Given the description of an element on the screen output the (x, y) to click on. 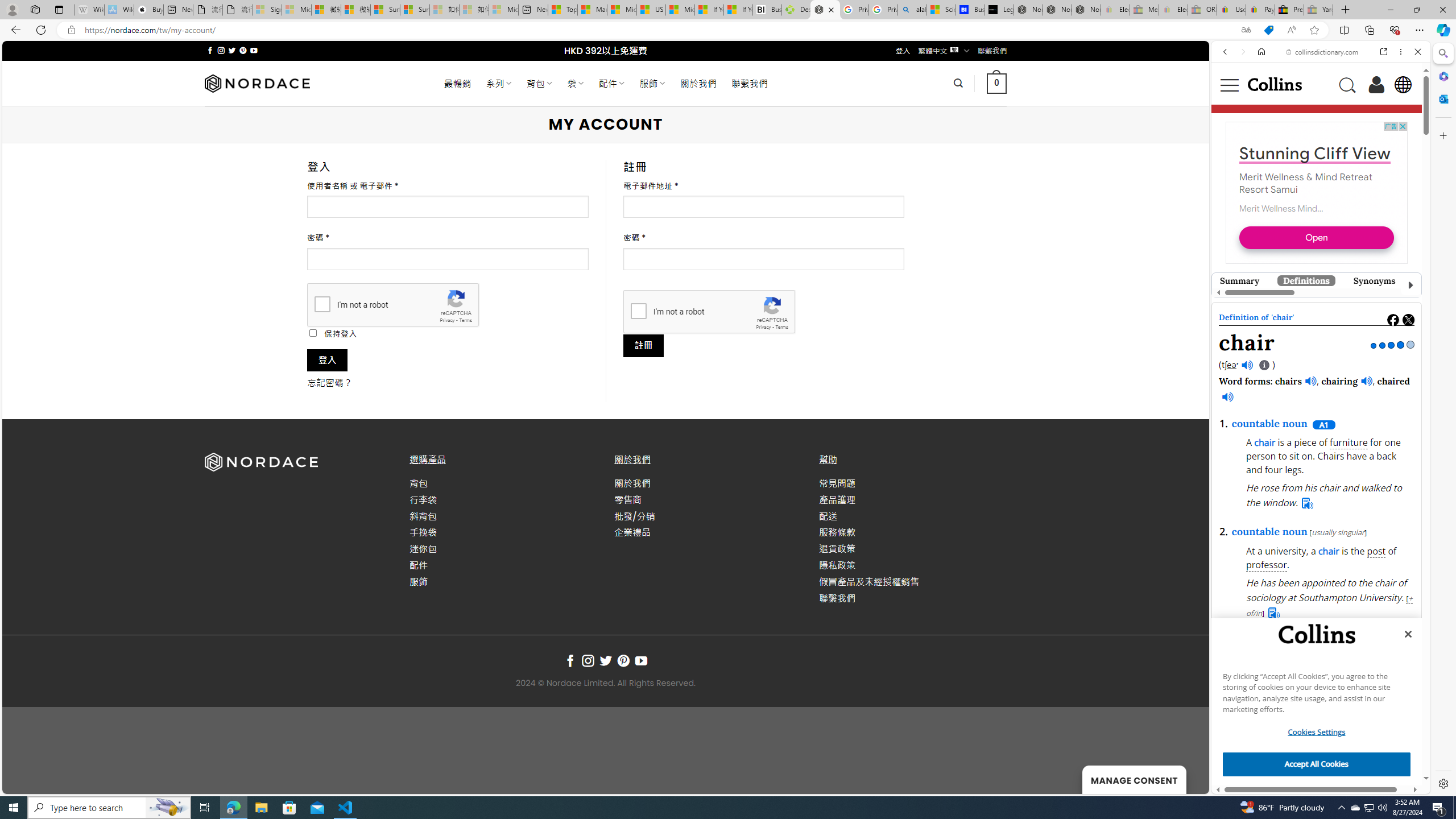
direct (1355, 481)
moderate (1285, 481)
Microsoft account | Account Checkup - Sleeping (502, 9)
Nordace - My Account (825, 9)
Follow on Pinterest (622, 660)
pronounce (1236, 217)
